Given the description of an element on the screen output the (x, y) to click on. 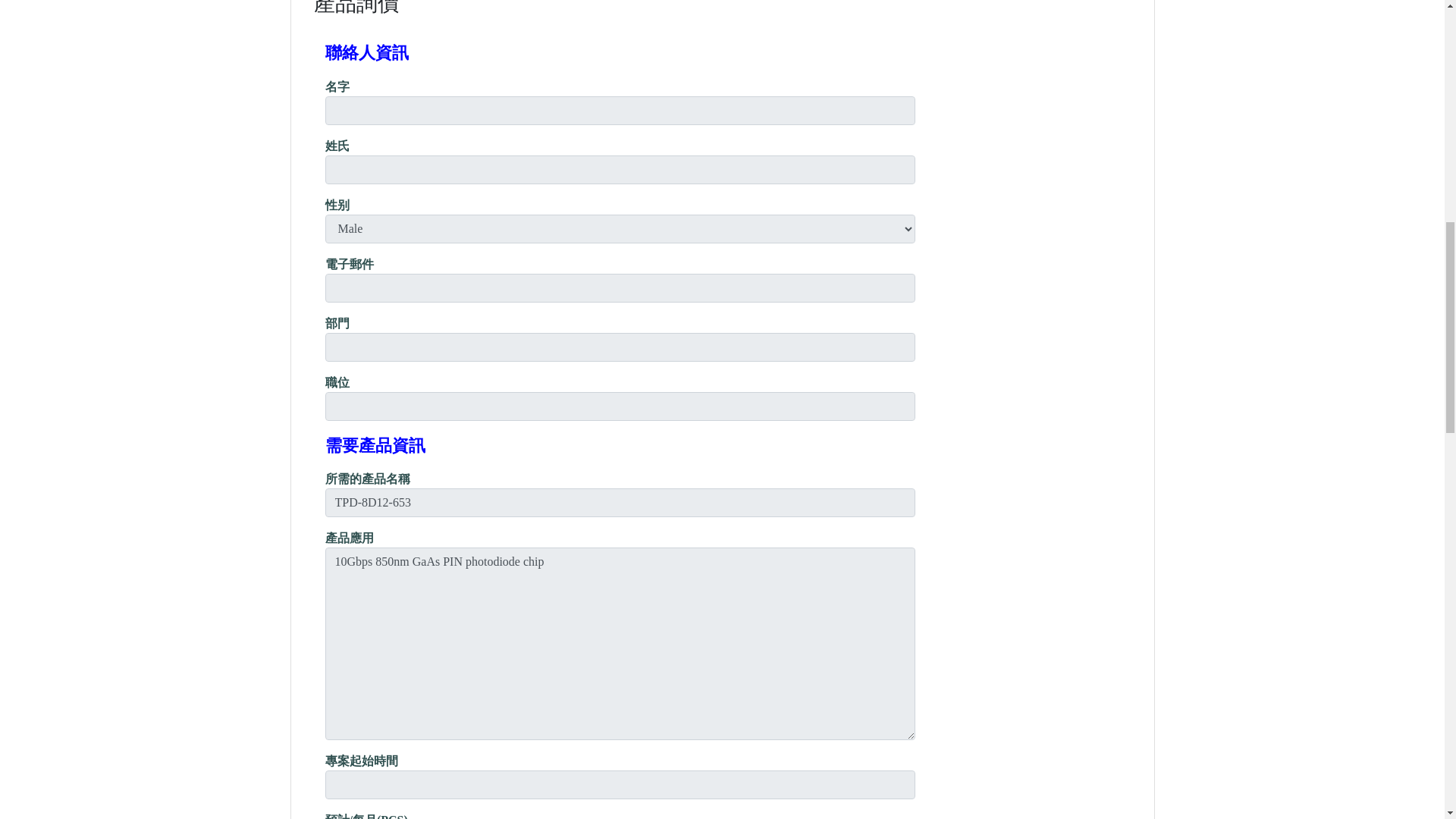
TPD-8D12-653 (619, 502)
